Given the description of an element on the screen output the (x, y) to click on. 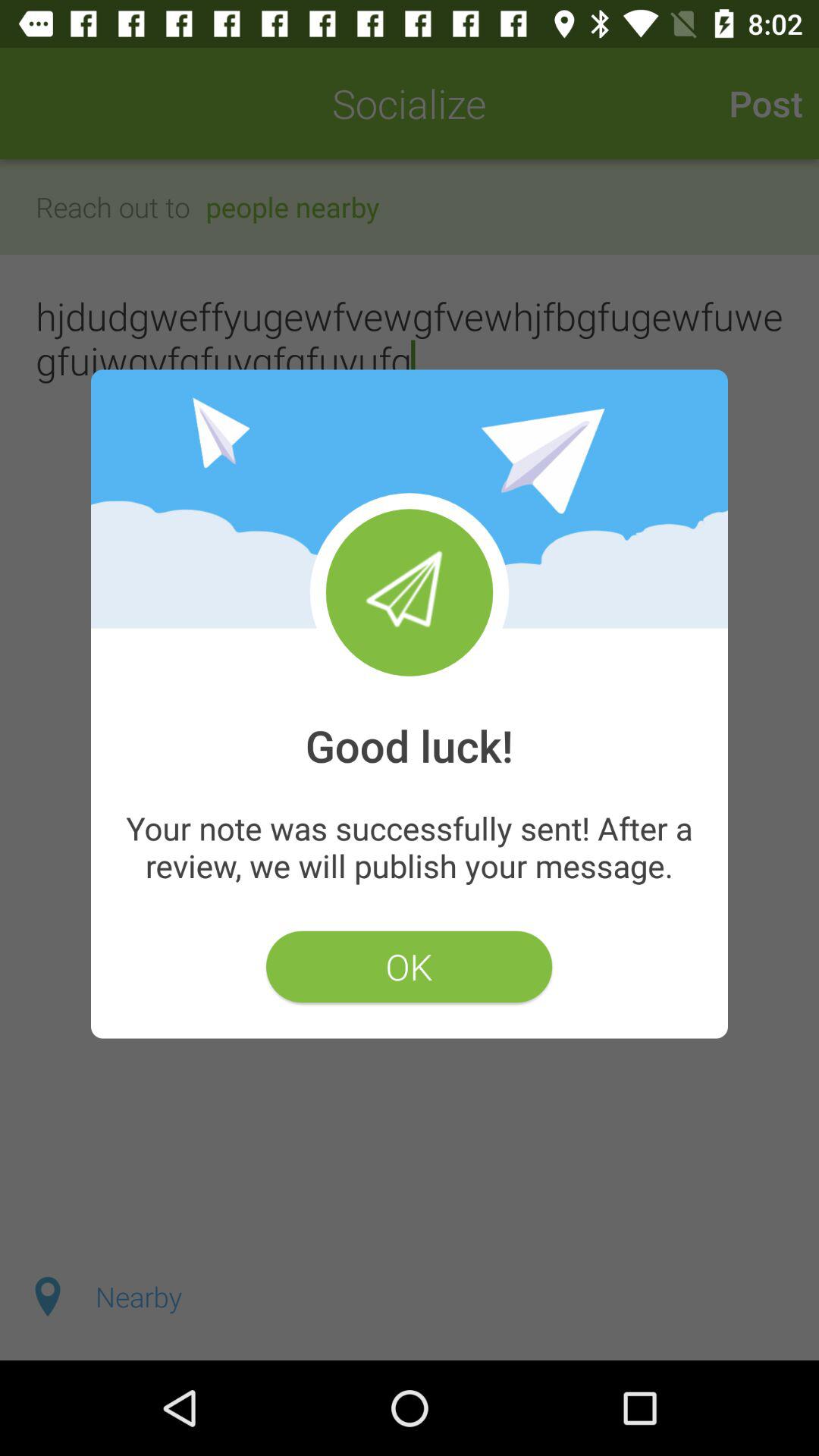
swipe until ok icon (409, 966)
